Given the description of an element on the screen output the (x, y) to click on. 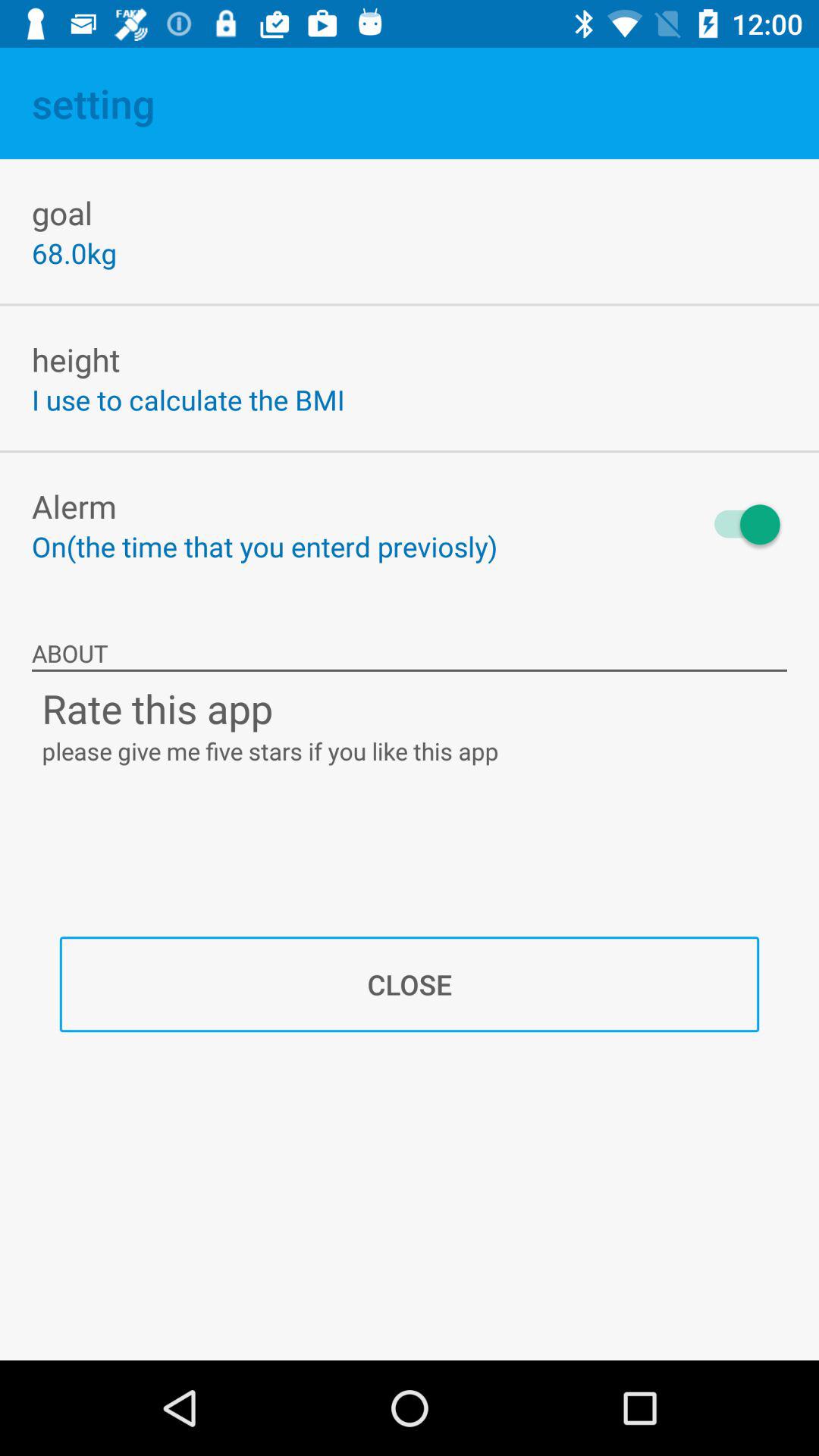
scroll to i use to (187, 399)
